Given the description of an element on the screen output the (x, y) to click on. 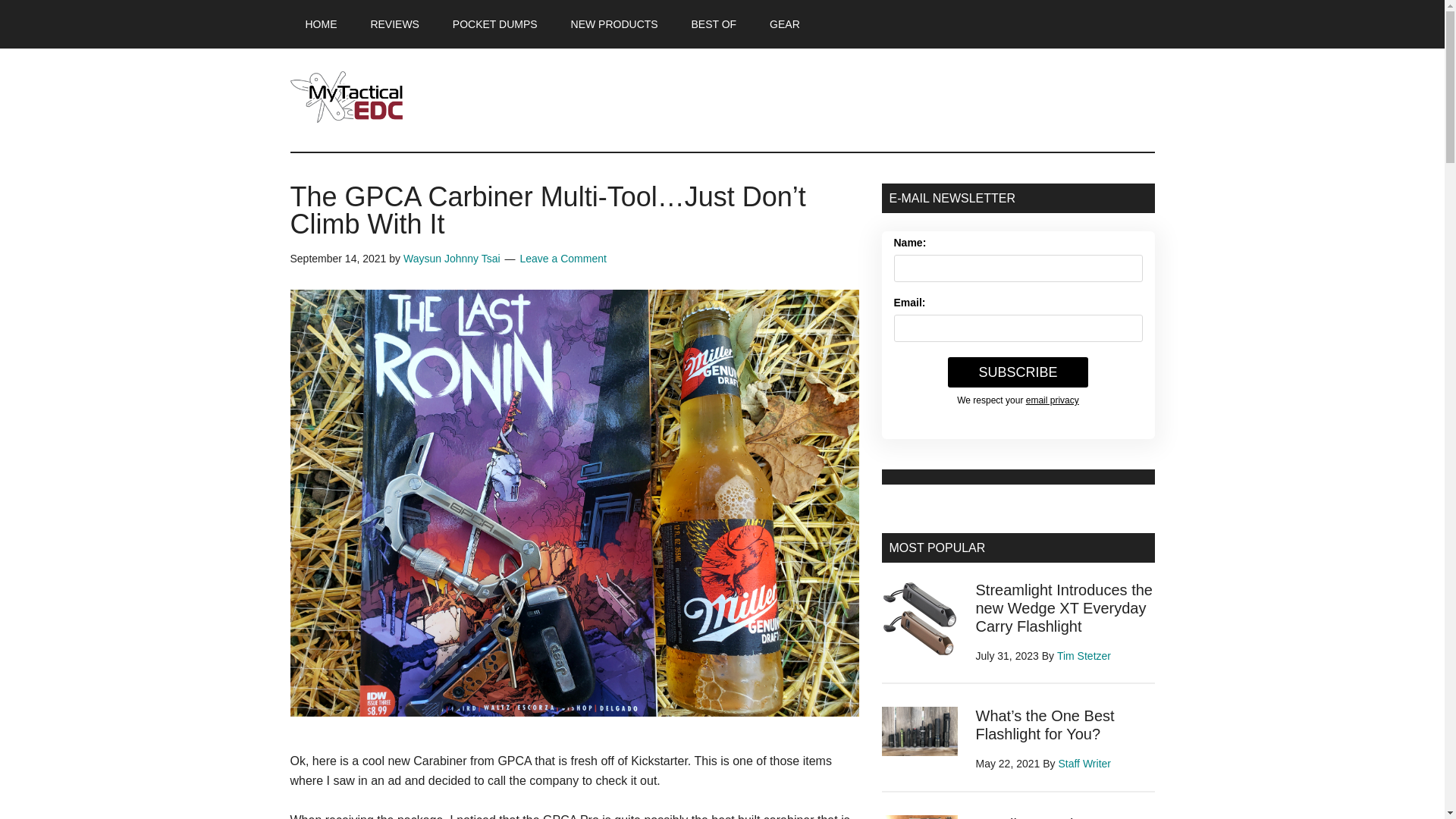
GEAR (784, 24)
Waysun Johnny Tsai (451, 258)
Leave a Comment (562, 258)
SUBSCRIBE (1017, 372)
REVIEWS (394, 24)
Privacy Policy (1052, 399)
BEST OF (714, 24)
SUBSCRIBE (1017, 372)
Tim Stetzer (1083, 655)
HOME (320, 24)
NEW PRODUCTS (614, 24)
email privacy (1052, 399)
POCKET DUMPS (495, 24)
